Given the description of an element on the screen output the (x, y) to click on. 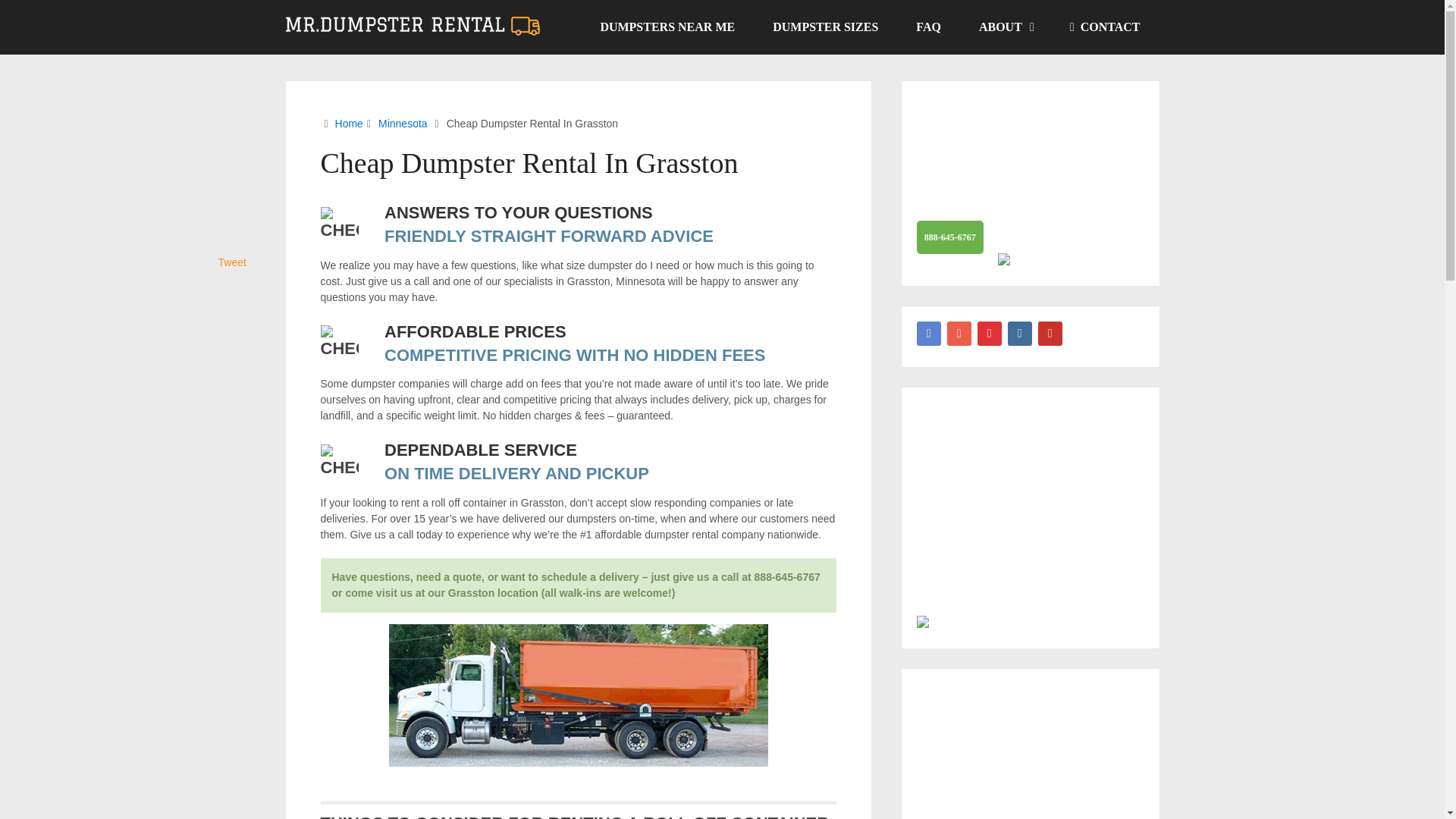
Home (348, 123)
CONTACT (1104, 27)
Minnesota (403, 123)
Facebook (928, 333)
Tweet (232, 262)
ABOUT (1005, 27)
Tumblr (1019, 333)
Pinterest (988, 333)
YouTube (1050, 333)
DUMPSTERS NEAR ME (667, 27)
